Given the description of an element on the screen output the (x, y) to click on. 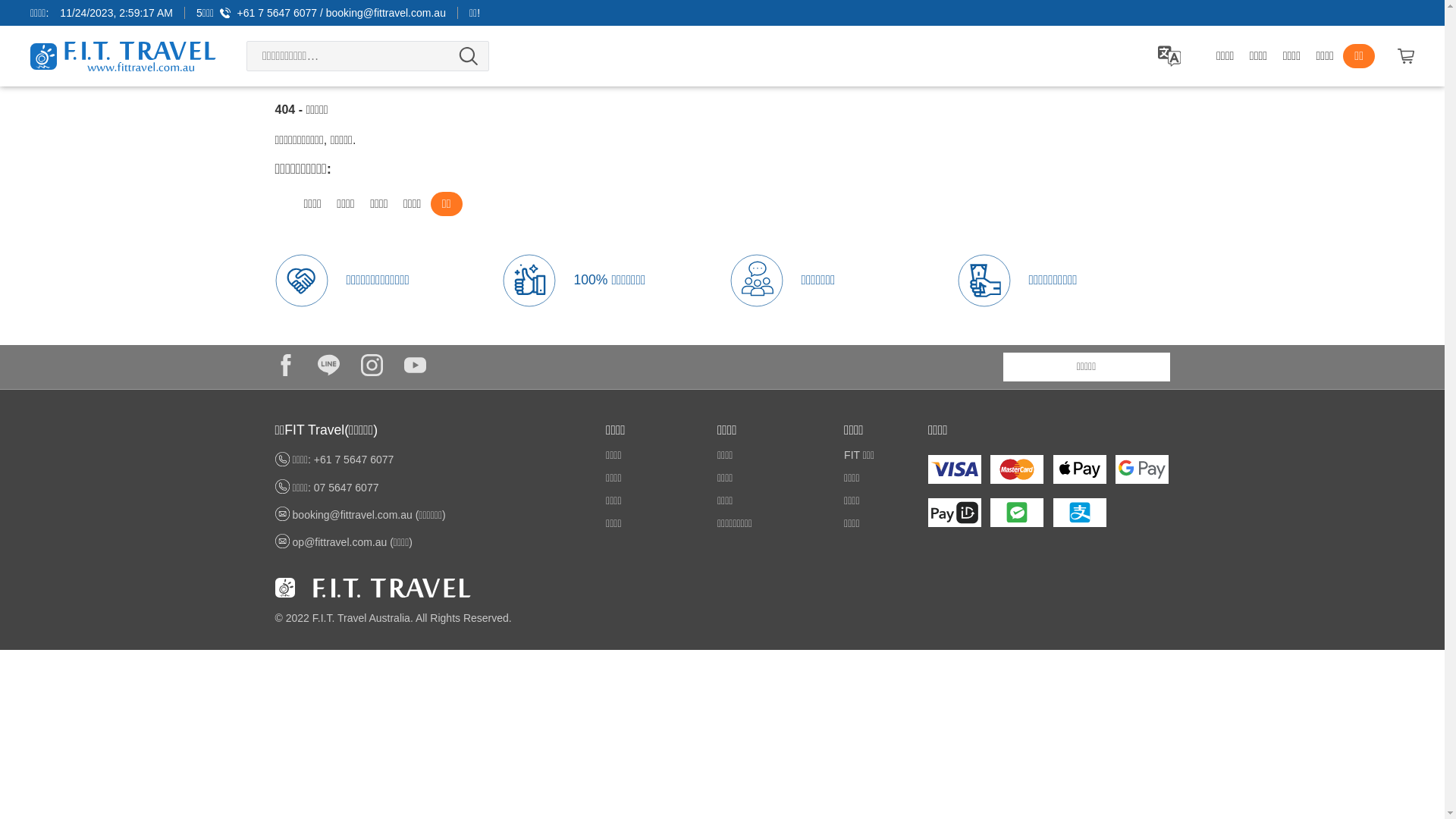
Search for: Element type: hover (367, 55)
